Given the description of an element on the screen output the (x, y) to click on. 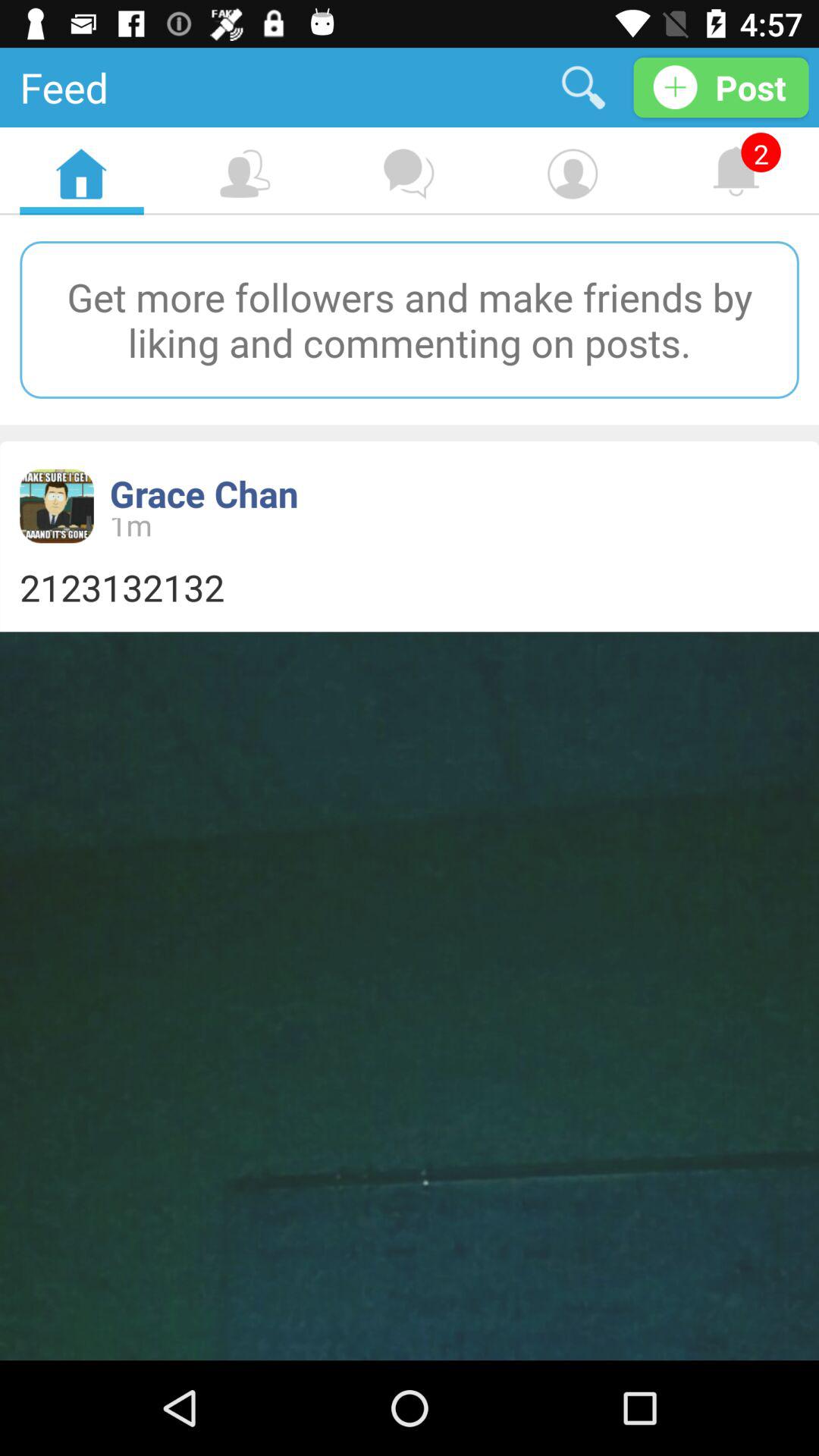
select the post (720, 87)
